Given the description of an element on the screen output the (x, y) to click on. 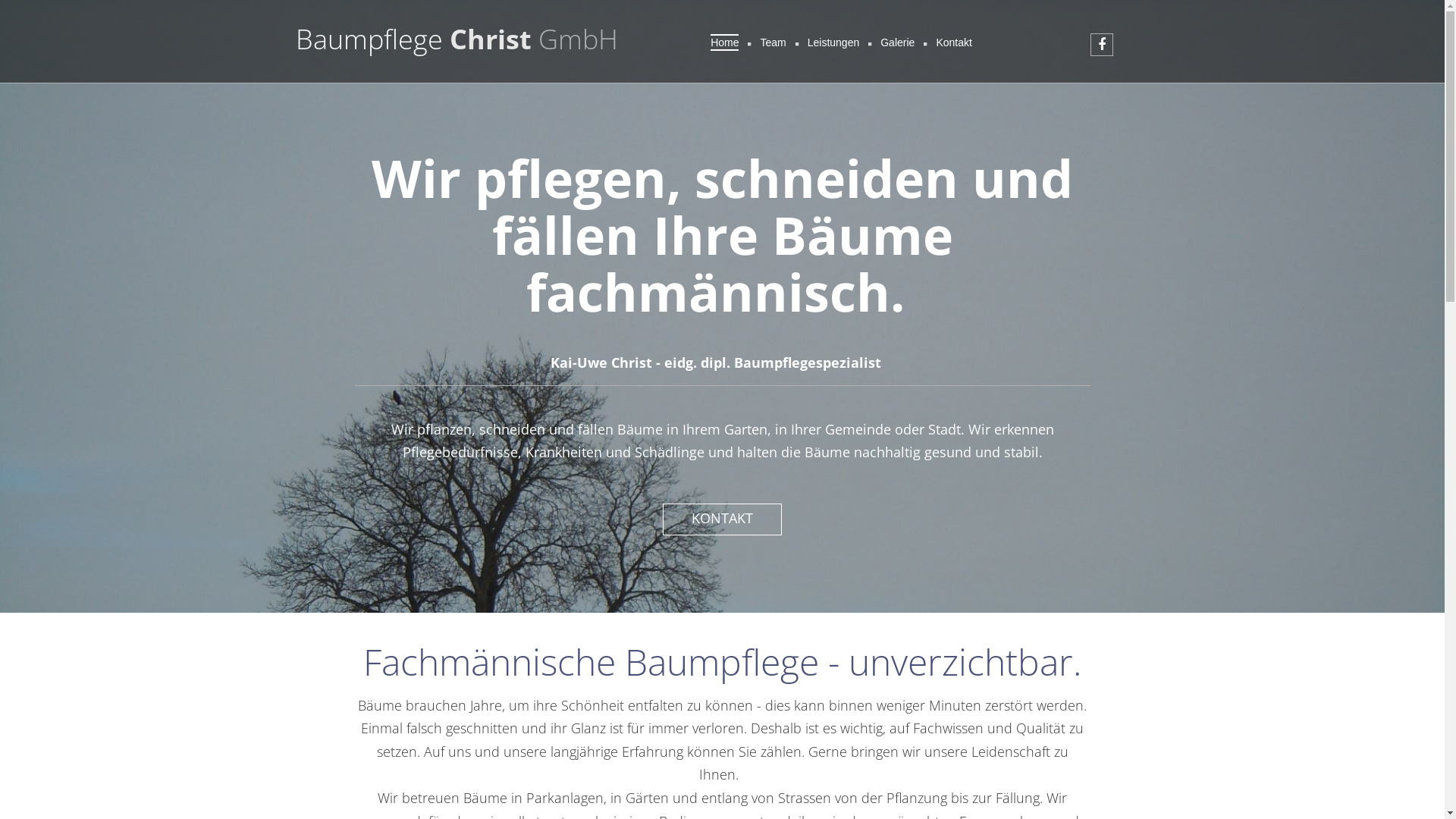
Galerie Element type: text (897, 42)
Home Element type: text (724, 42)
Team Element type: text (772, 42)
Kontakt Element type: text (953, 42)
KONTAKT Element type: text (721, 519)
Leistungen Element type: text (833, 42)
